Given the description of an element on the screen output the (x, y) to click on. 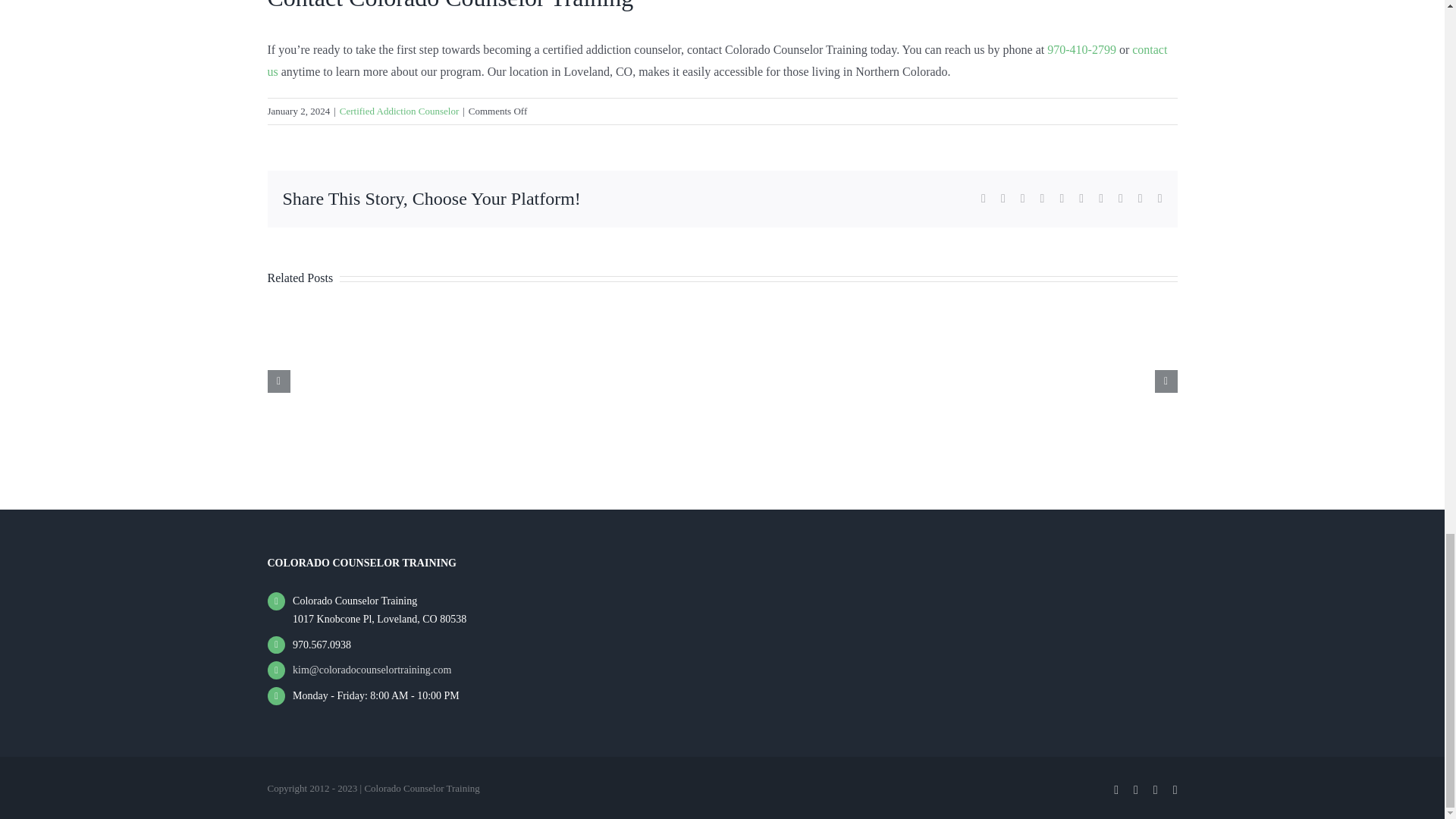
Certified Addiction Counselor (398, 111)
contact us (716, 60)
970-410-2799 (1081, 49)
